Given the description of an element on the screen output the (x, y) to click on. 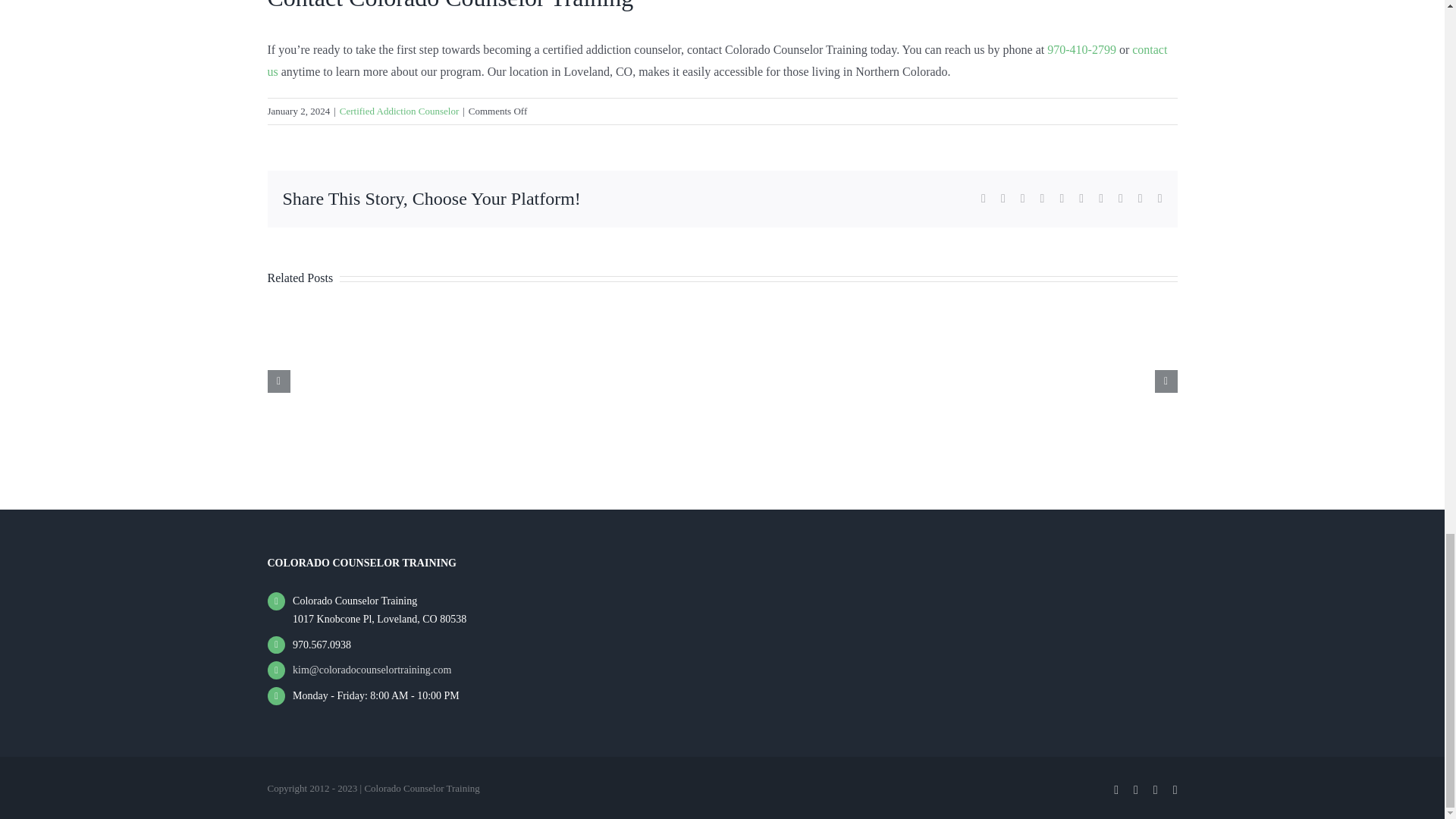
Certified Addiction Counselor (398, 111)
contact us (716, 60)
970-410-2799 (1081, 49)
